Given the description of an element on the screen output the (x, y) to click on. 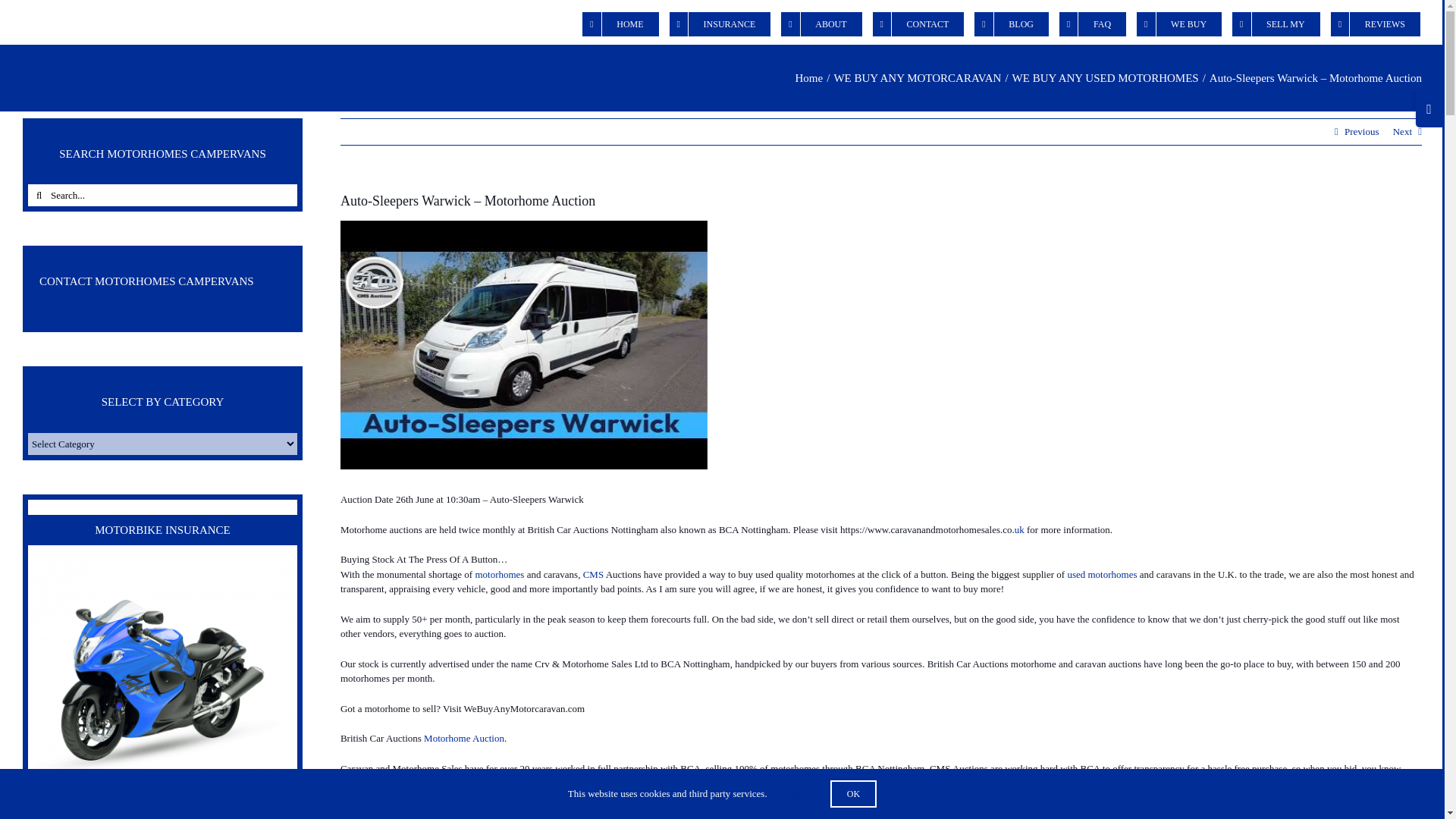
ABOUT (820, 23)
FAQ (1092, 23)
HOME (619, 23)
WE BUY (1179, 23)
INSURANCE (720, 23)
SELL MY (1276, 23)
BLOG (1010, 23)
MOTORBIKE INSURANCE (162, 680)
CONTACT (918, 23)
